Given the description of an element on the screen output the (x, y) to click on. 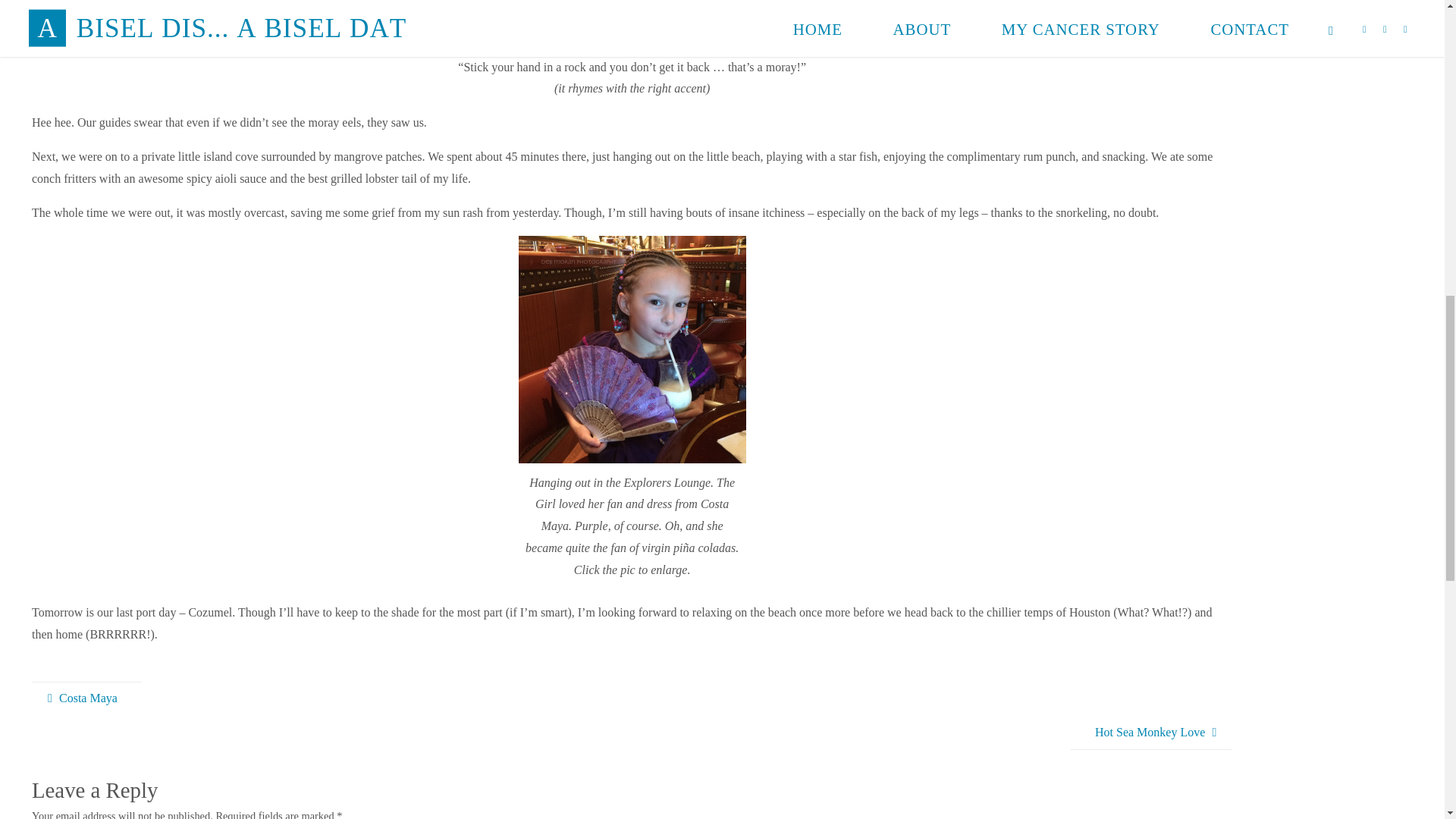
Hot Sea Monkey Love (1150, 732)
Costa Maya (86, 698)
